Given the description of an element on the screen output the (x, y) to click on. 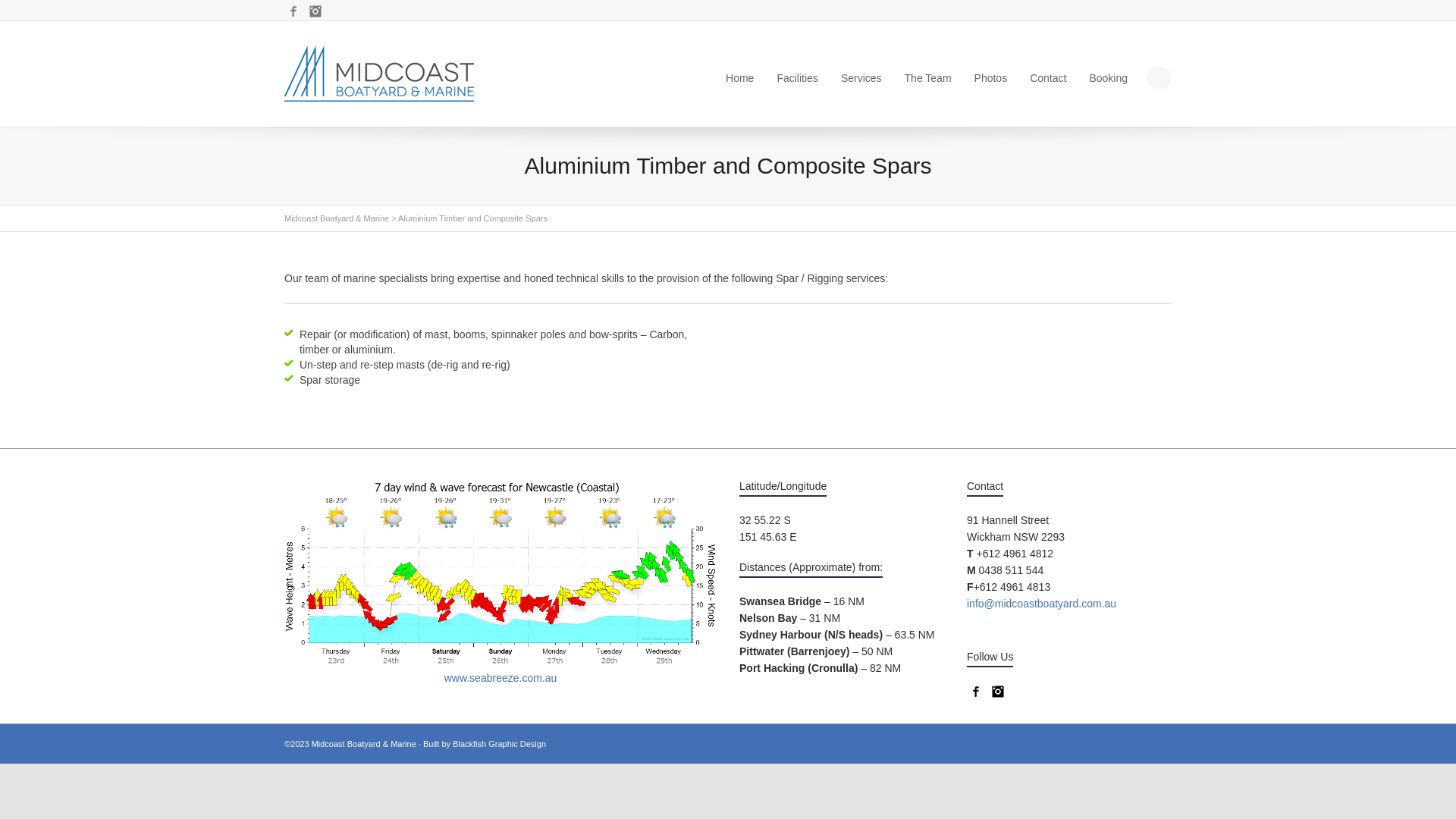
Contact Element type: text (1047, 77)
Blackfish Graphic Design Element type: text (499, 743)
Facilities Element type: text (796, 77)
Booking Element type: text (1107, 77)
Facebook Element type: text (293, 11)
Facebook Element type: text (975, 691)
www.seabreeze.com.au Element type: text (500, 677)
Services Element type: text (860, 77)
The Team Element type: text (927, 77)
Midcoast Boatyard & Marine Element type: text (336, 217)
info@midcoastboatyard.com.au Element type: text (1041, 603)
Photos Element type: text (990, 77)
Instagram Element type: text (315, 11)
Home Element type: text (739, 77)
Instagram Element type: text (997, 691)
